Given the description of an element on the screen output the (x, y) to click on. 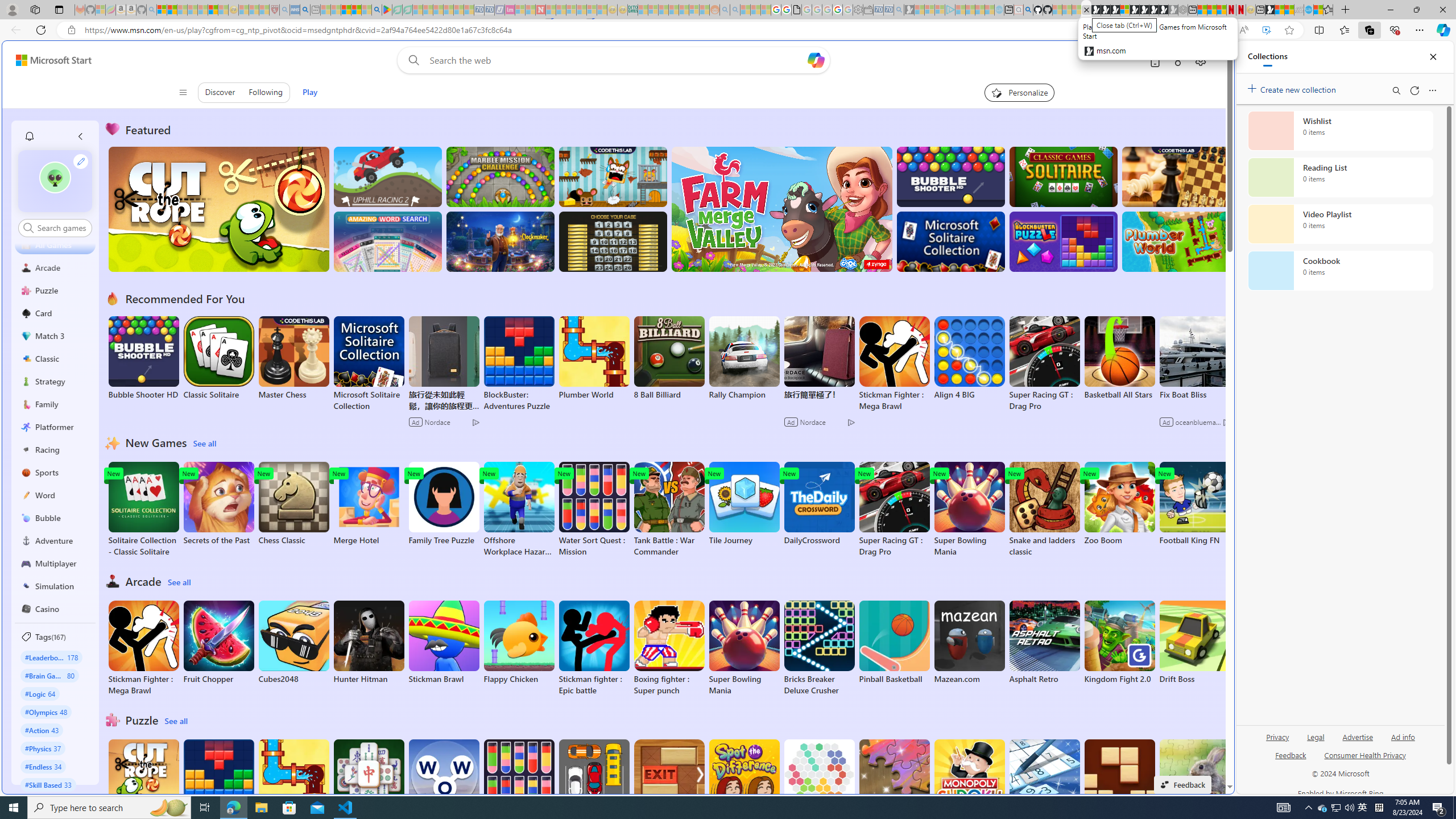
See all (176, 720)
#Brain Games 80 (49, 675)
Fruit Chopper (218, 642)
Bricks Breaker Deluxe Crusher (818, 648)
Master Chess (293, 358)
Enhance video (1266, 29)
Farm Merge Valley (781, 208)
#Olympics 48 (46, 711)
